Given the description of an element on the screen output the (x, y) to click on. 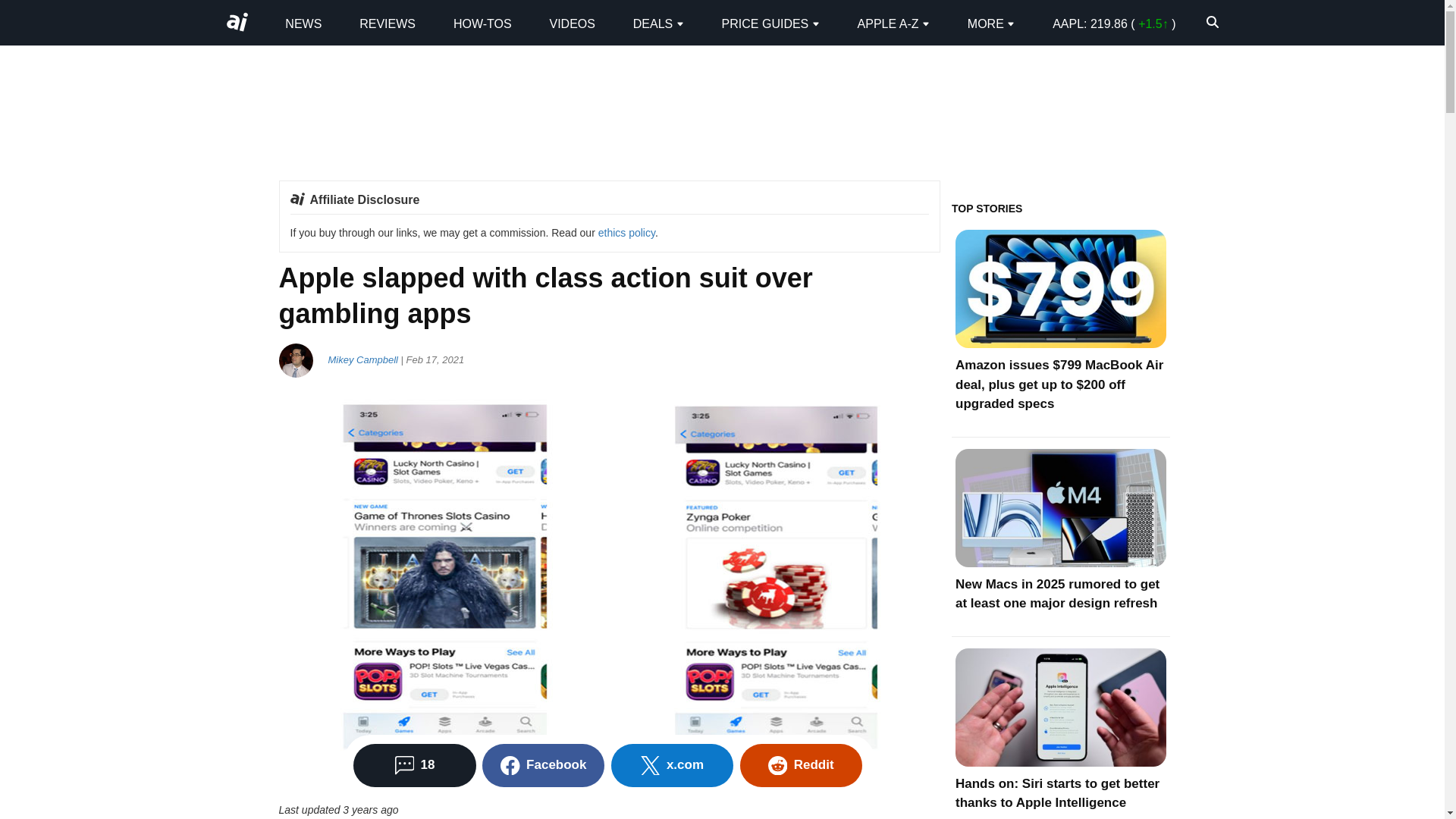
VIDEOS (571, 23)
Reviews (386, 23)
Videos (571, 23)
HOW-TOS (482, 23)
NEWS (303, 23)
How-Tos (482, 23)
News (303, 23)
REVIEWS (386, 23)
